Given the description of an element on the screen output the (x, y) to click on. 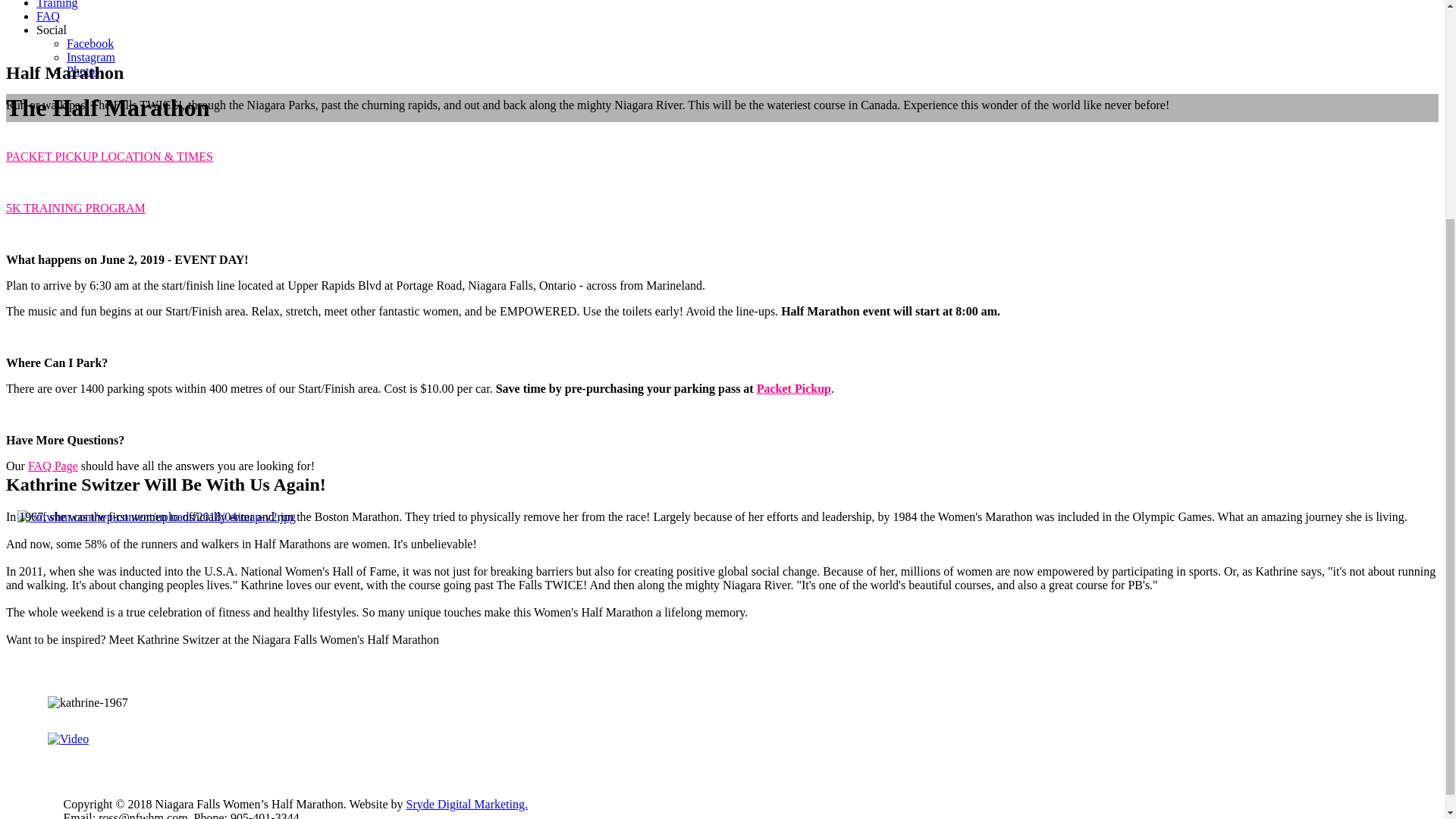
Instagram (90, 56)
FAQ Page (52, 465)
Photos (83, 70)
Social (51, 29)
Register Today (42, 491)
Facebook (89, 42)
FAQ (47, 15)
Training (57, 4)
Sryde Digital Marketing. (466, 803)
Packet Pickup (794, 388)
